Given the description of an element on the screen output the (x, y) to click on. 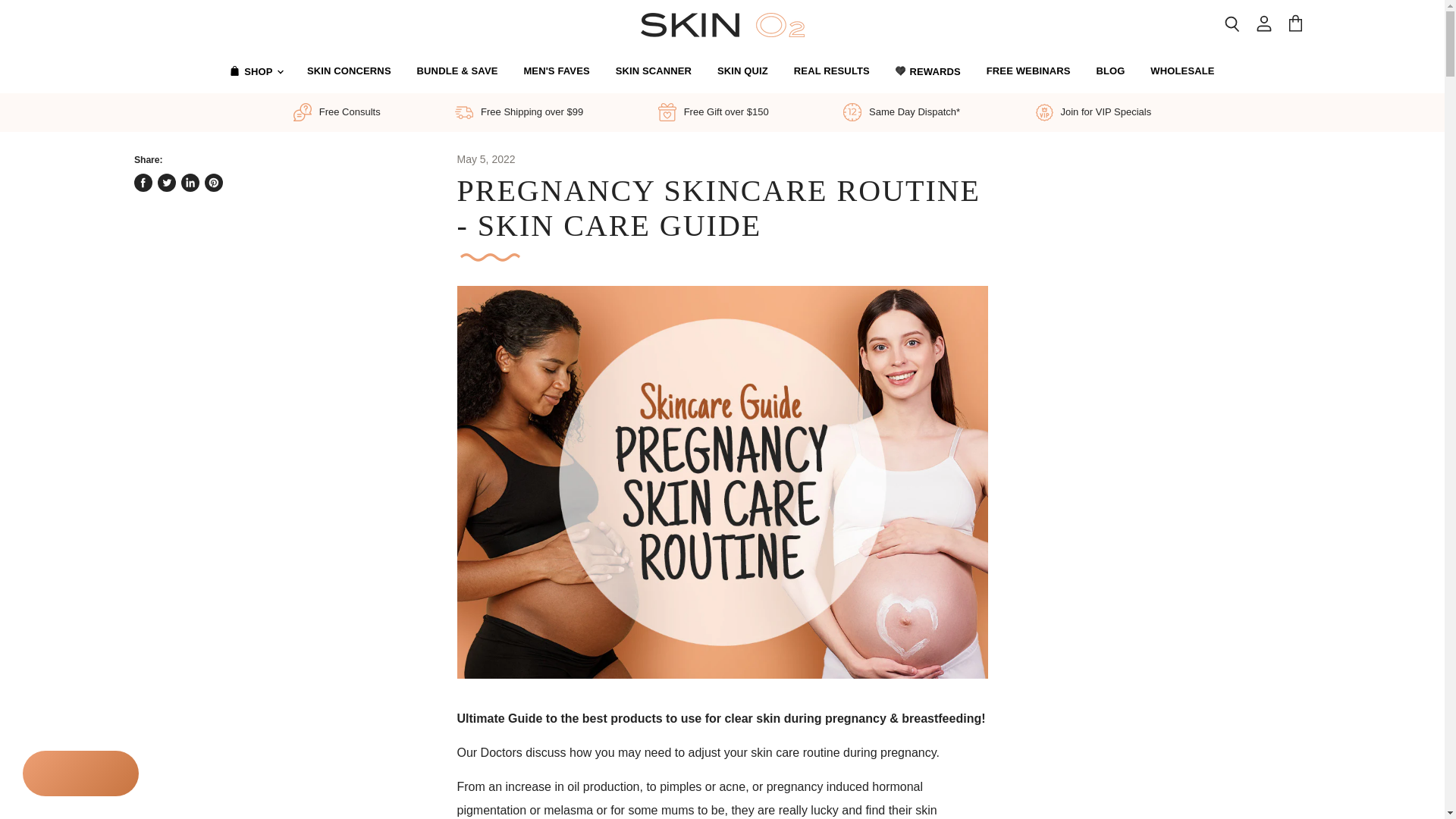
SHOP (255, 71)
Search (1231, 24)
